Given the description of an element on the screen output the (x, y) to click on. 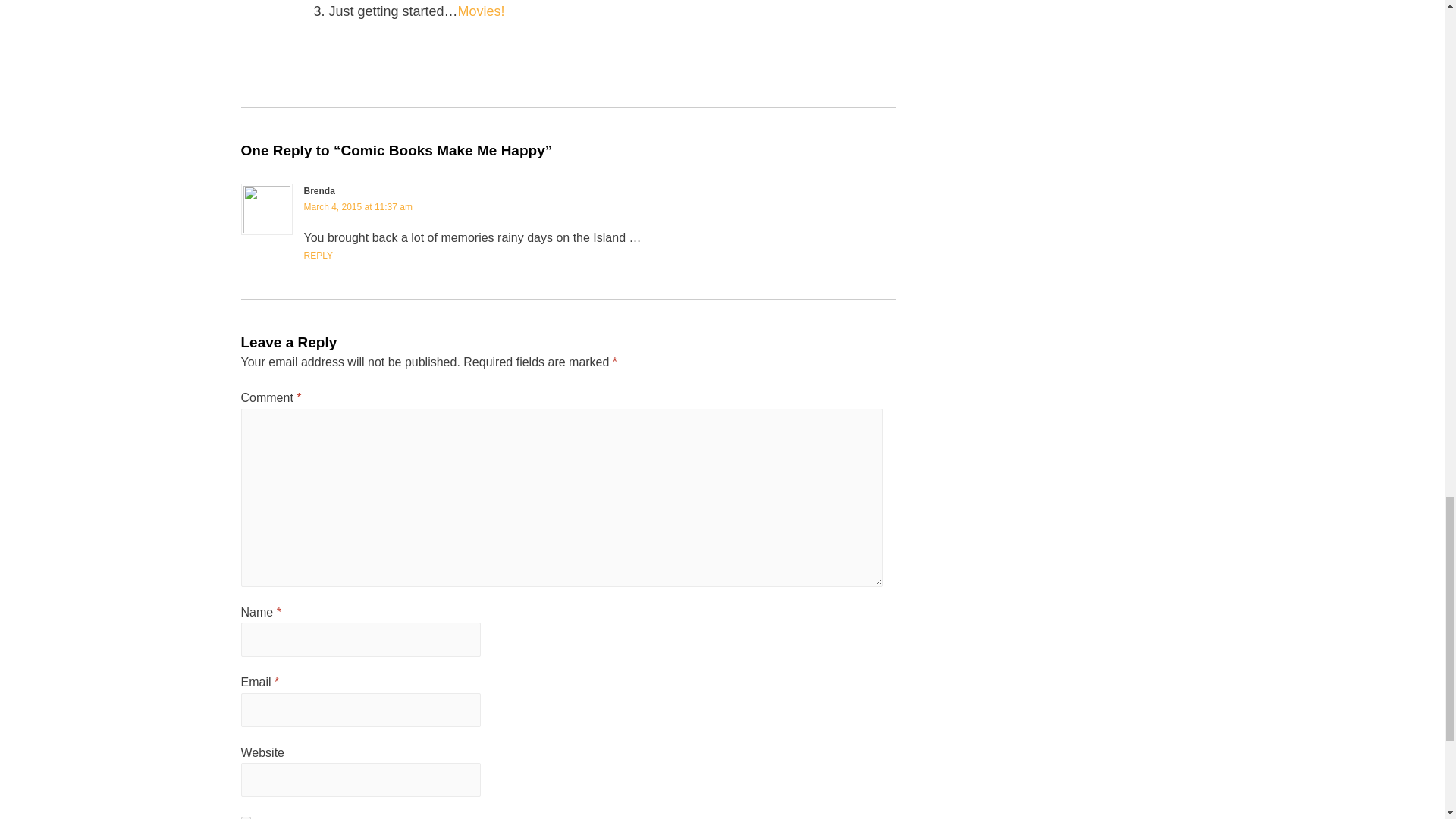
March 4, 2015 at 11:37 am (357, 206)
Movies! (481, 11)
REPLY (316, 255)
